Given the description of an element on the screen output the (x, y) to click on. 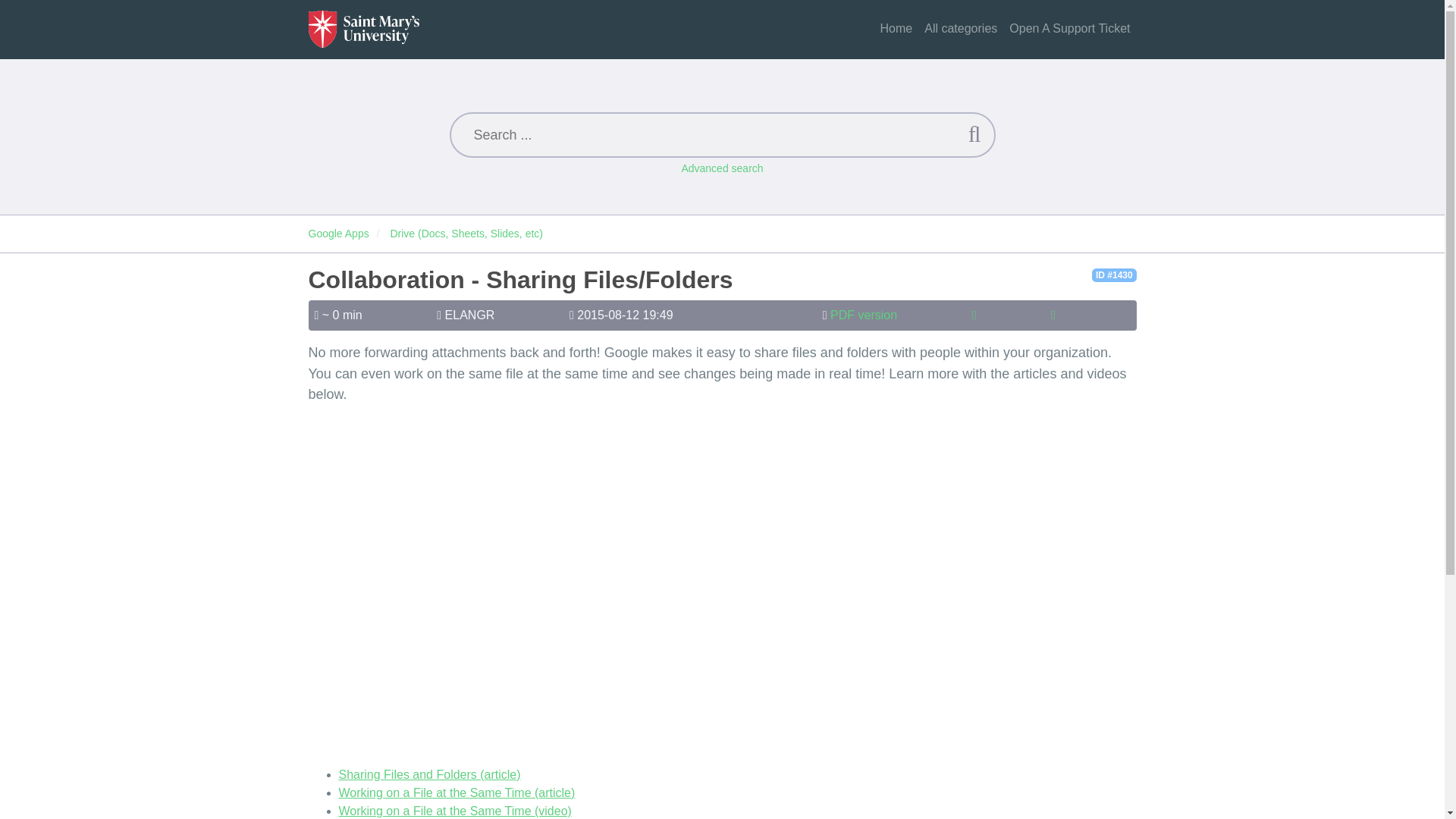
Home (896, 28)
PDF version (862, 314)
PDF version (862, 314)
Open A Support Ticket (1069, 28)
All categories (960, 28)
Advanced search (721, 168)
Saint Mary's University of Minnesota HelpDesk (363, 28)
Google Apps (337, 233)
